Given the description of an element on the screen output the (x, y) to click on. 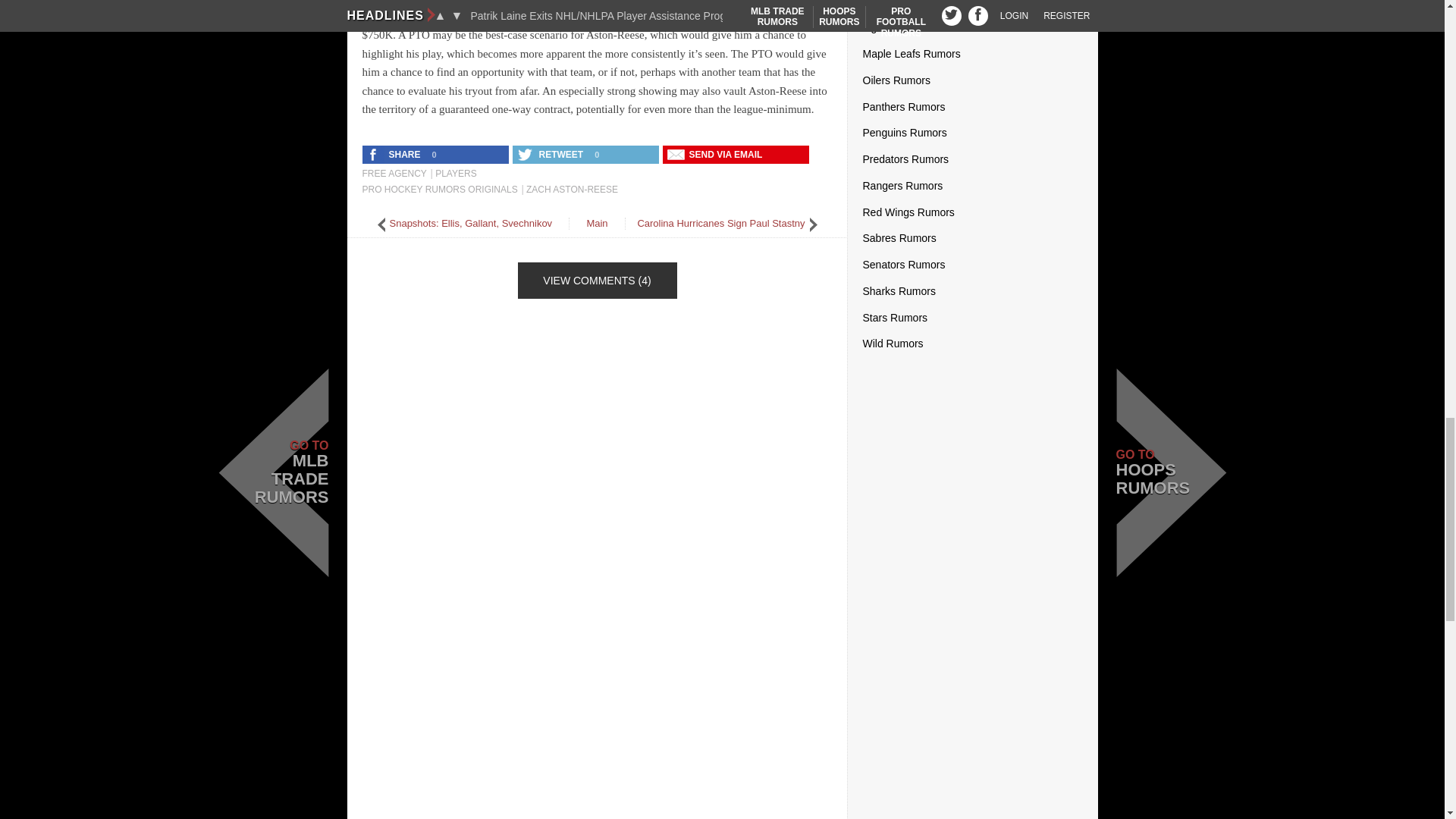
Retweet 'Free Agent Profile: Zach Aston-Reese' on Twitter (551, 154)
Share 'Free Agent Profile: Zach Aston-Reese' on Facebook (395, 154)
Send Free Agent Profile: Zach Aston-Reese with an email (716, 154)
